Given the description of an element on the screen output the (x, y) to click on. 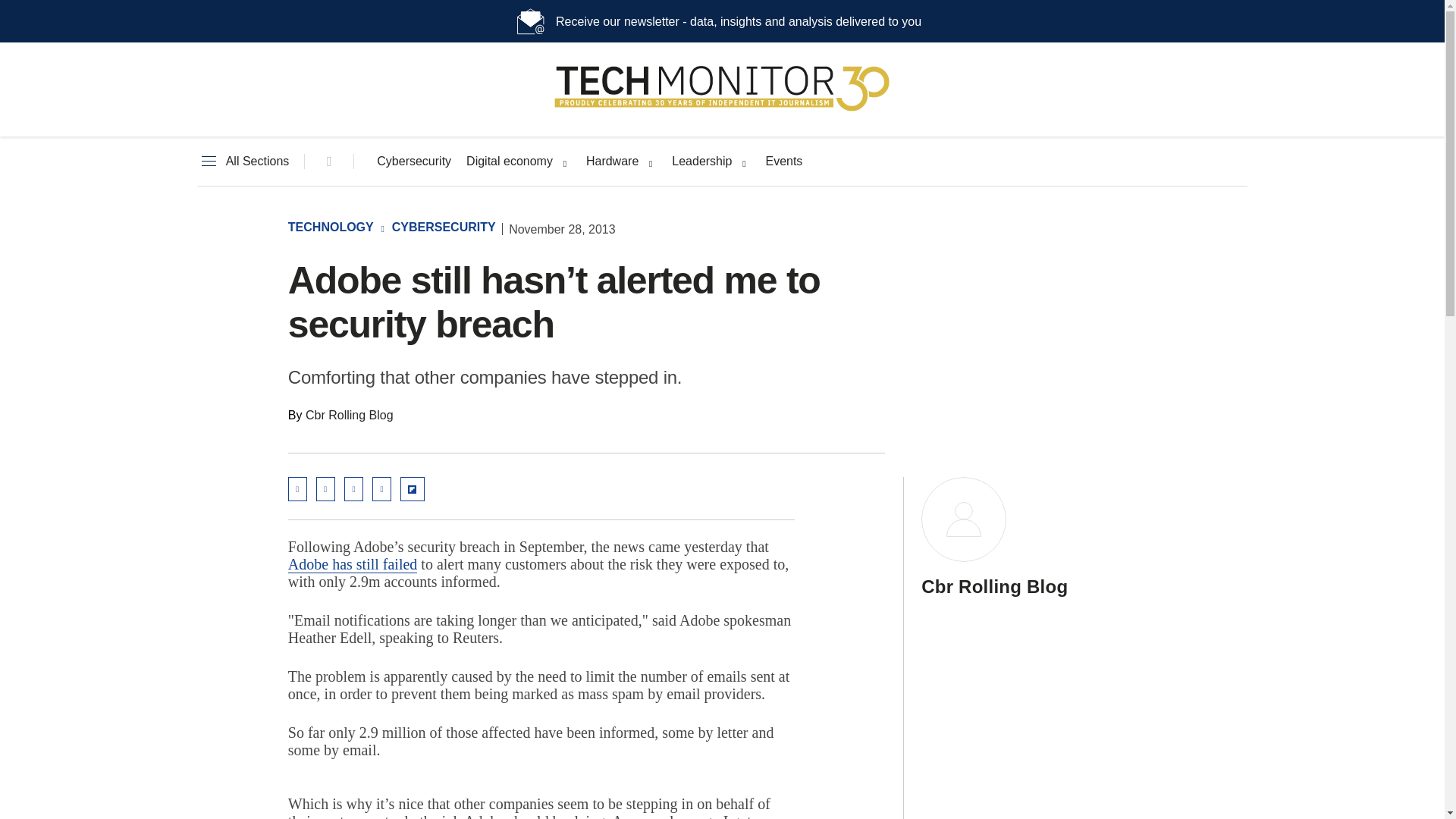
Hardware (612, 161)
Events (783, 161)
Tech Monitor (722, 110)
Digital economy (509, 161)
Leadership (701, 161)
All Sections (242, 161)
Cybersecurity (414, 161)
Share on Flipboard (412, 488)
